Given the description of an element on the screen output the (x, y) to click on. 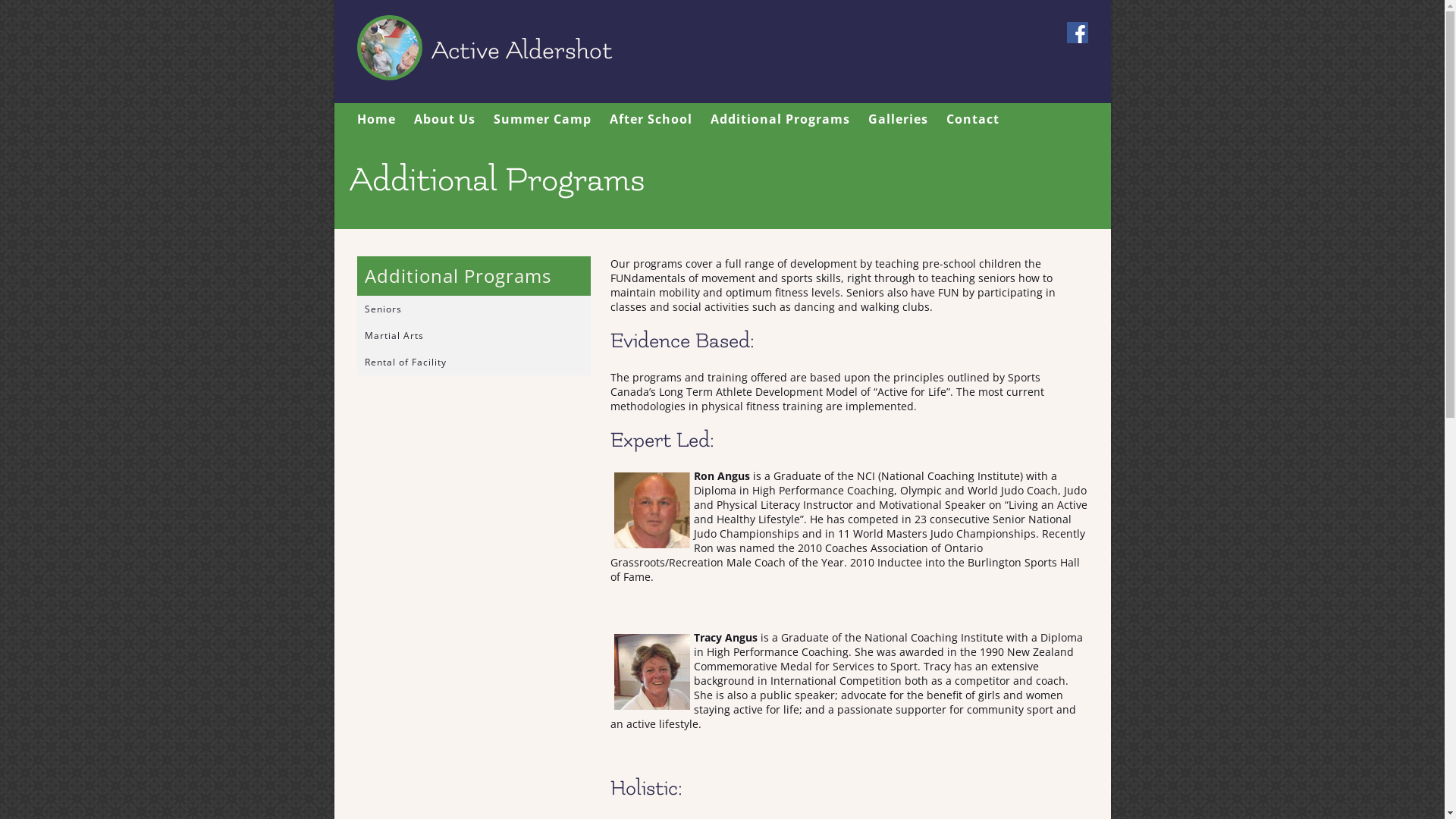
About Us Element type: text (444, 118)
Summer Camp Element type: text (541, 118)
Contact Element type: text (972, 118)
After School Element type: text (650, 118)
Facebook Element type: hover (1076, 32)
Active Aldershot Element type: text (531, 50)
Home Element type: text (375, 118)
Seniors Element type: text (472, 308)
Rental of Facility Element type: text (472, 361)
Galleries Element type: text (897, 118)
Additional Programs Element type: text (476, 275)
Additional Programs Element type: text (779, 118)
Martial Arts Element type: text (472, 335)
